Given the description of an element on the screen output the (x, y) to click on. 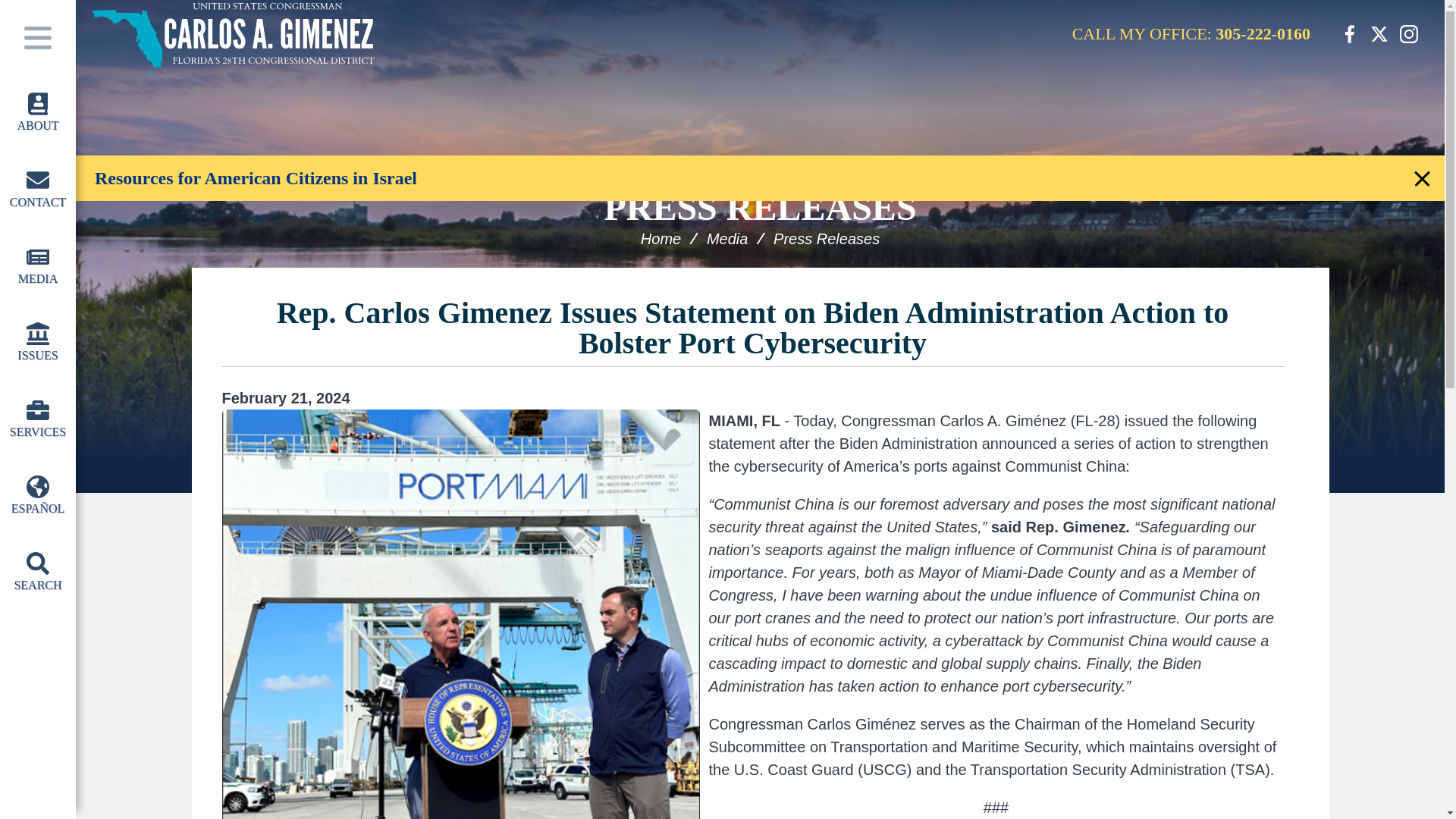
Resources for American Citizens in Israel (37, 344)
